Given the description of an element on the screen output the (x, y) to click on. 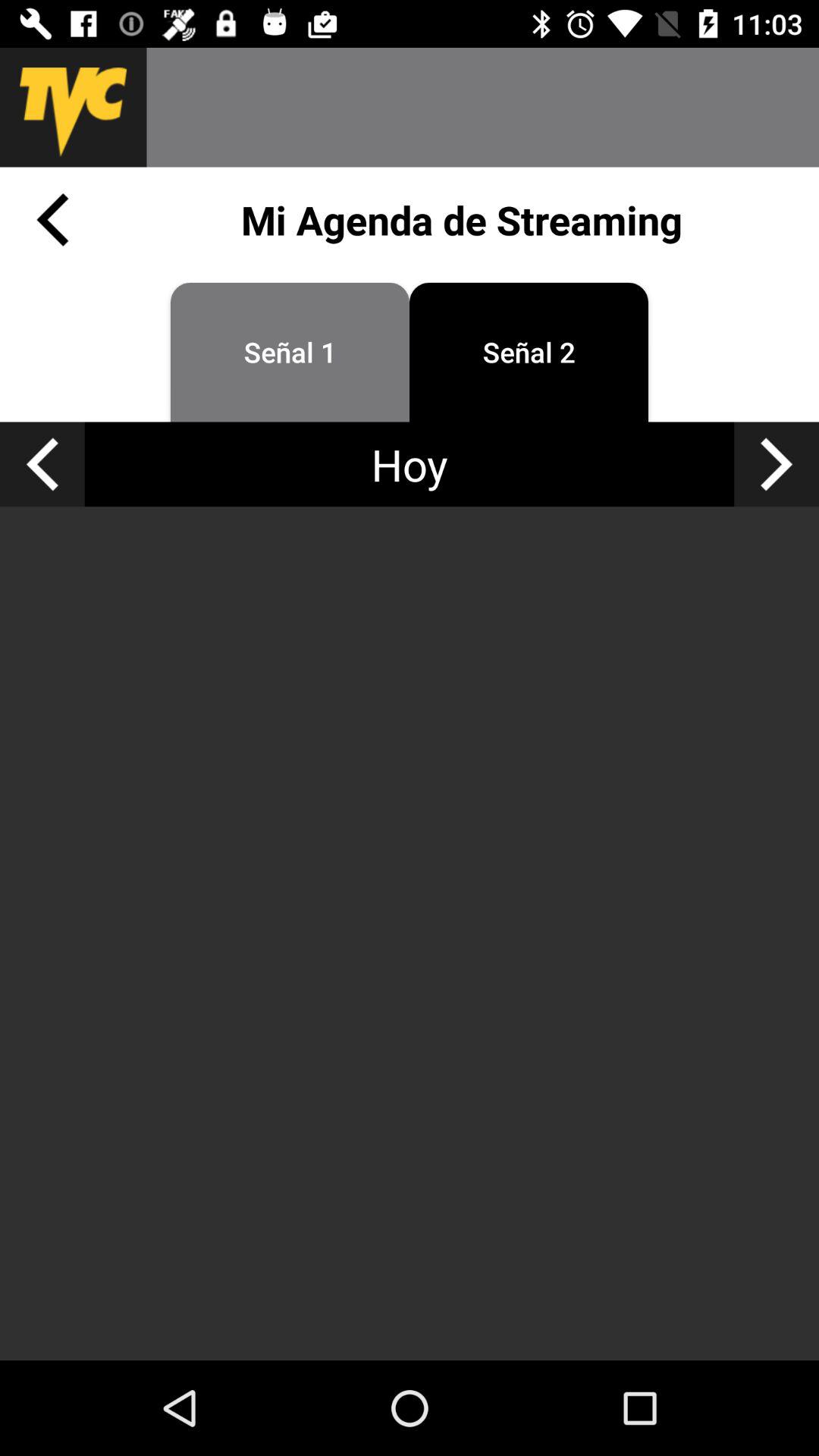
go back to previous selection (42, 464)
